Given the description of an element on the screen output the (x, y) to click on. 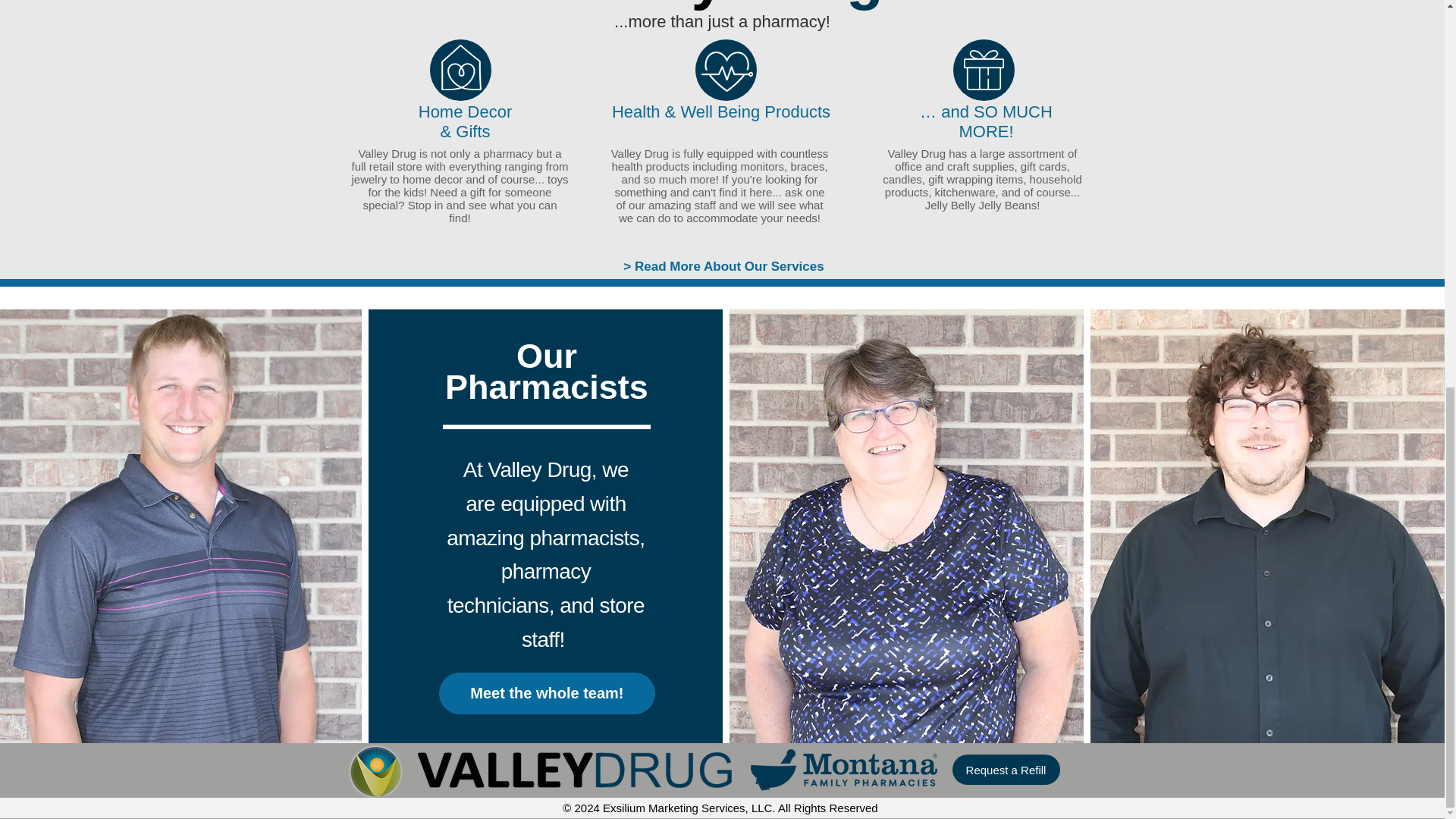
Meet the whole team! (547, 693)
Request a Refill (1005, 769)
